Given the description of an element on the screen output the (x, y) to click on. 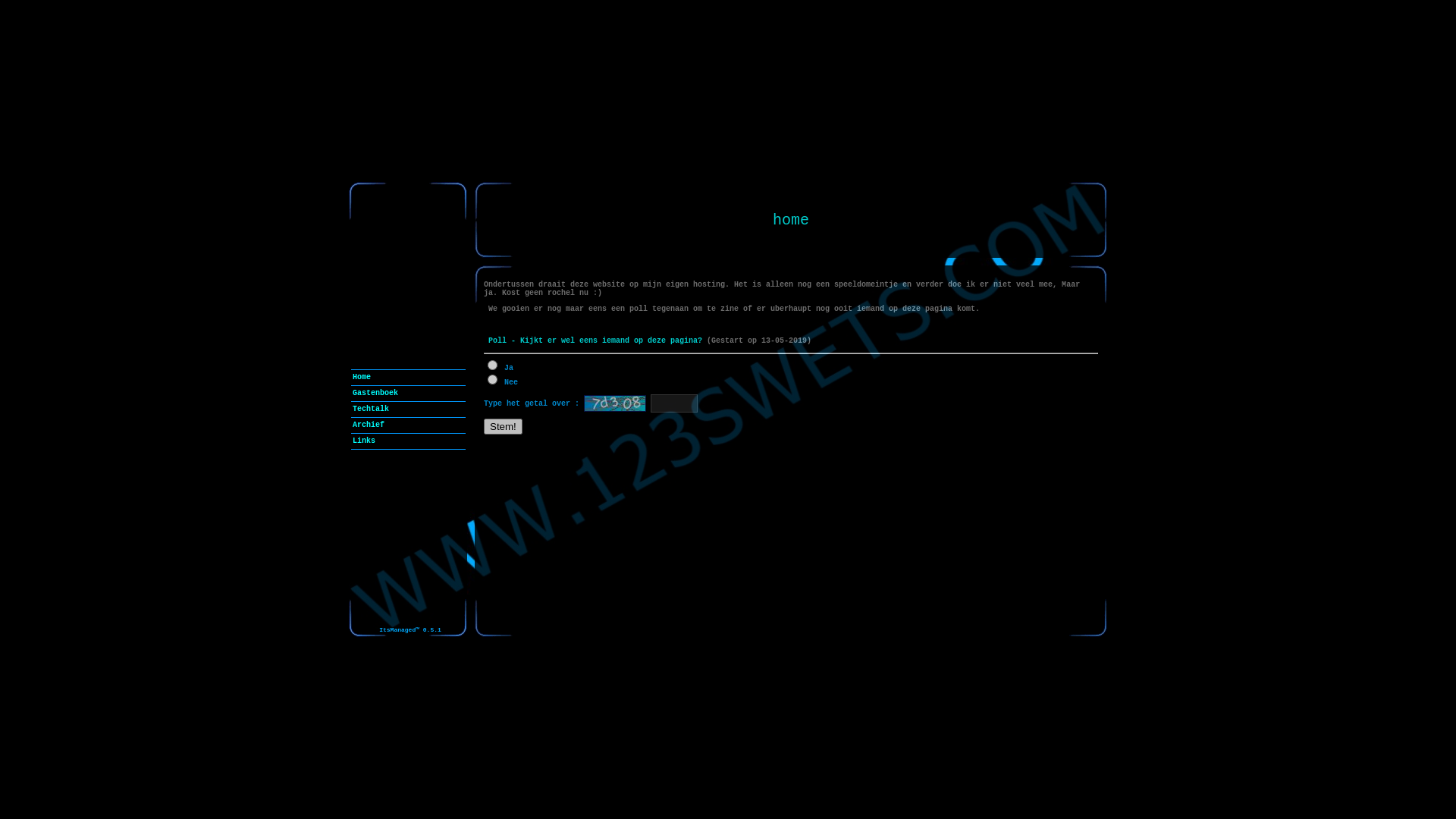
Gastenboek Element type: text (408, 393)
Home Element type: text (408, 377)
Stem! Element type: text (502, 426)
Techtalk Element type: text (408, 409)
